Given the description of an element on the screen output the (x, y) to click on. 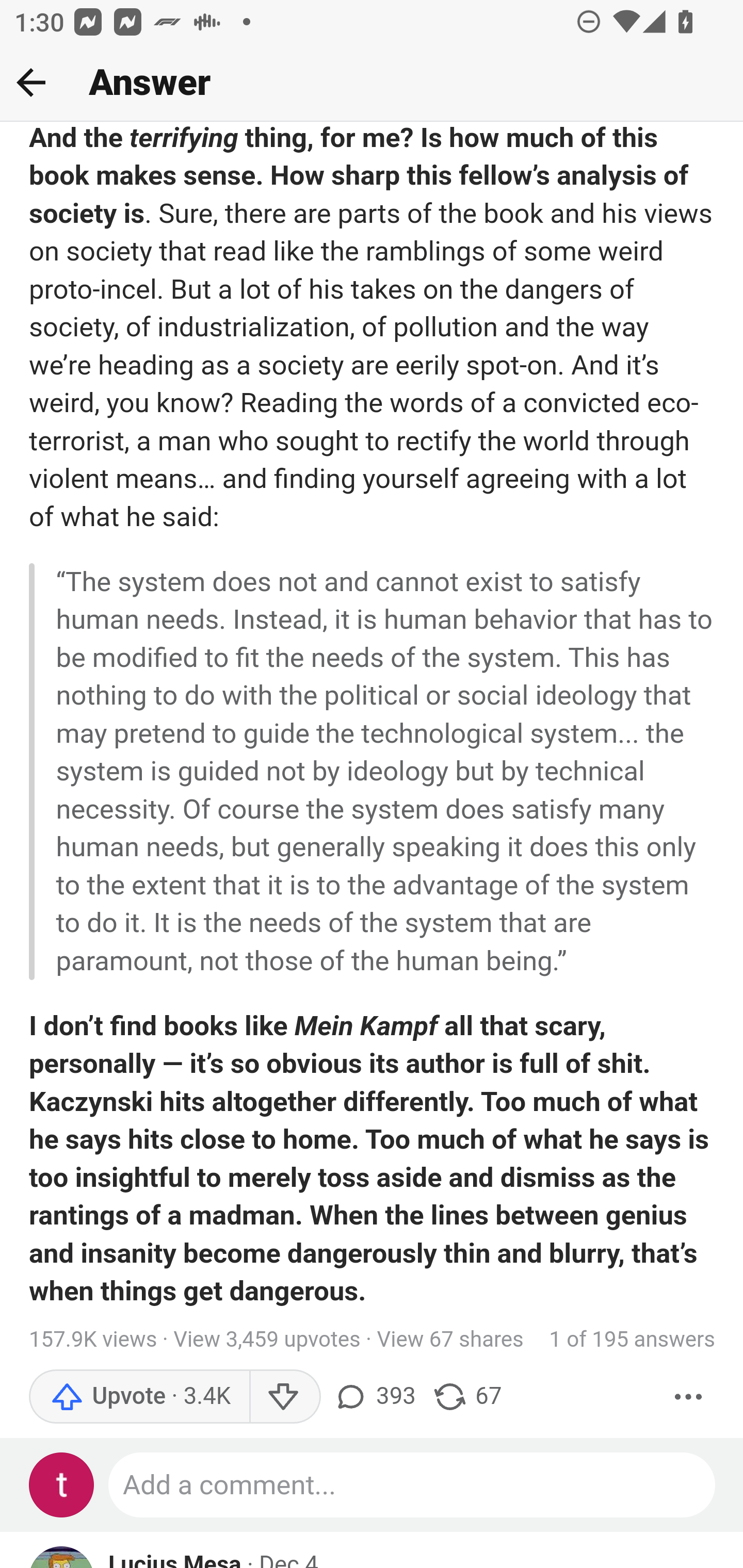
Back (30, 82)
View 3,459 upvotes (267, 1339)
View 67 shares (449, 1339)
1 of 195 answers (632, 1339)
Profile photo for Test Appium (61, 1485)
Add a comment... (412, 1485)
